Given the description of an element on the screen output the (x, y) to click on. 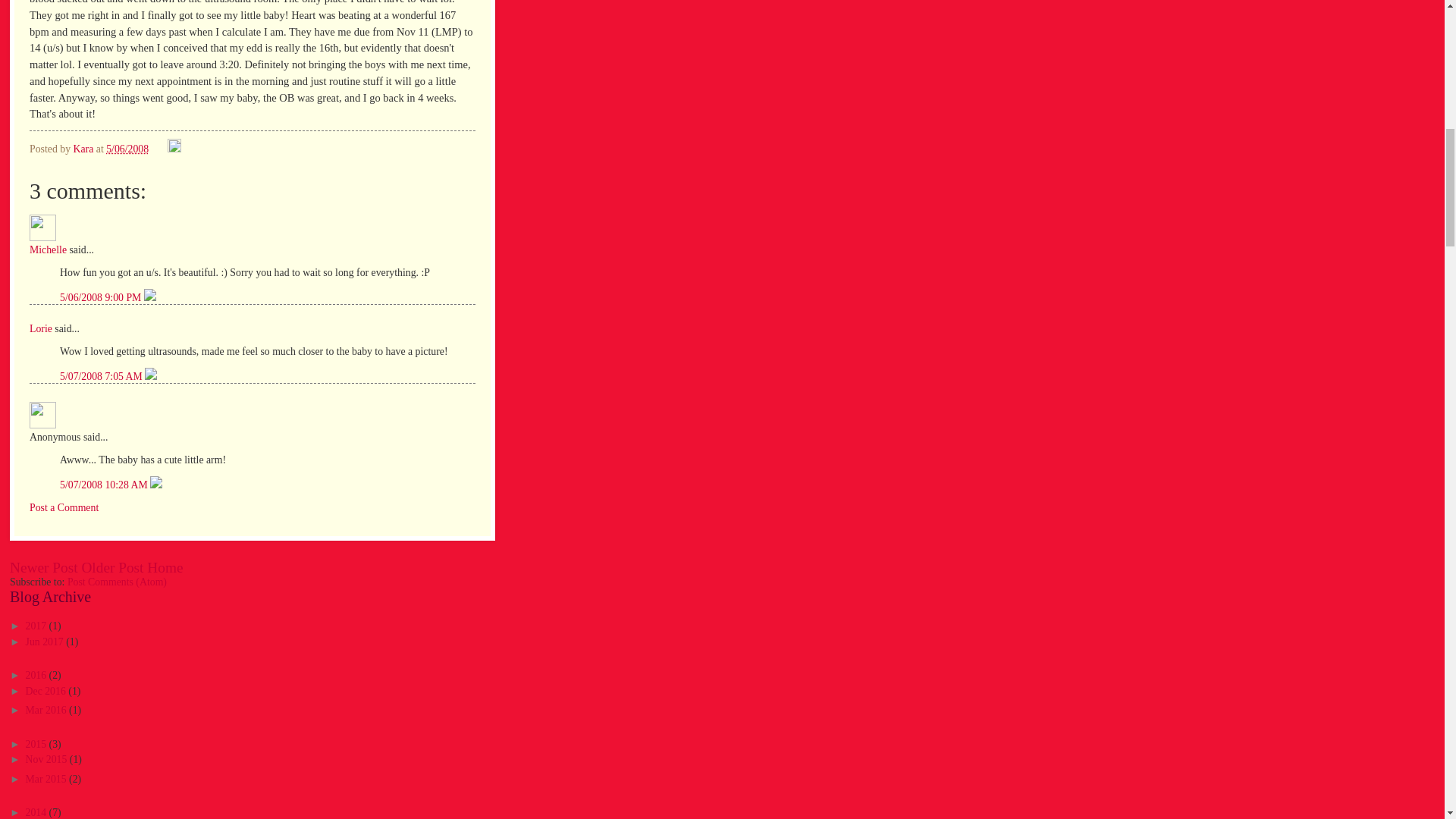
Newer Post (44, 567)
2017 (37, 625)
Lorie (40, 328)
Post a Comment (64, 507)
Older Post (111, 567)
author profile (84, 148)
Anonymous (42, 415)
Michelle (47, 249)
Michelle (42, 227)
Edit Post (173, 148)
Newer Post (44, 567)
permanent link (127, 148)
2016 (37, 674)
Dec 2016 (47, 690)
Mar 2016 (47, 709)
